Given the description of an element on the screen output the (x, y) to click on. 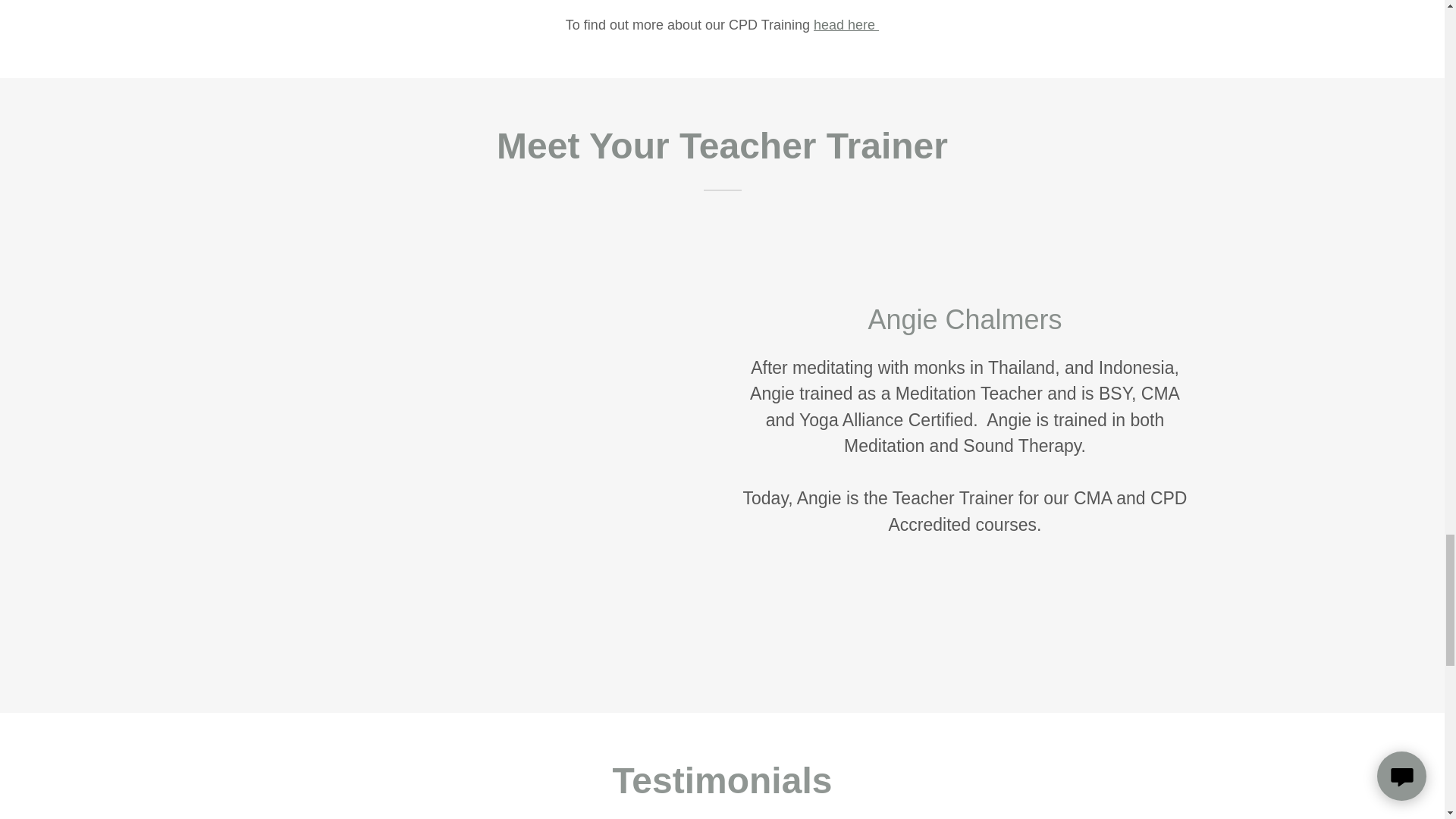
head here  (846, 24)
